Given the description of an element on the screen output the (x, y) to click on. 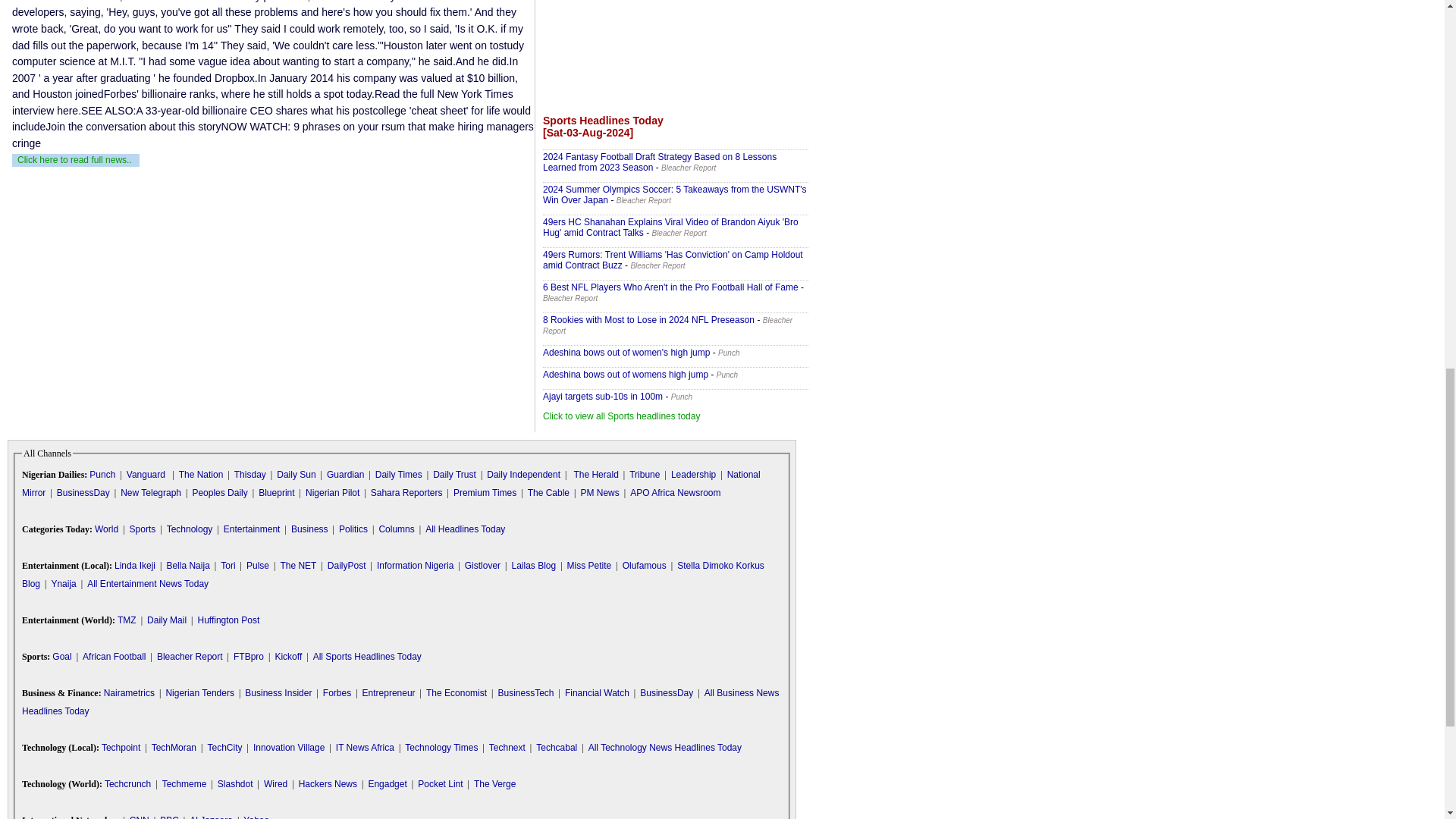
Advertisement (675, 52)
